Given the description of an element on the screen output the (x, y) to click on. 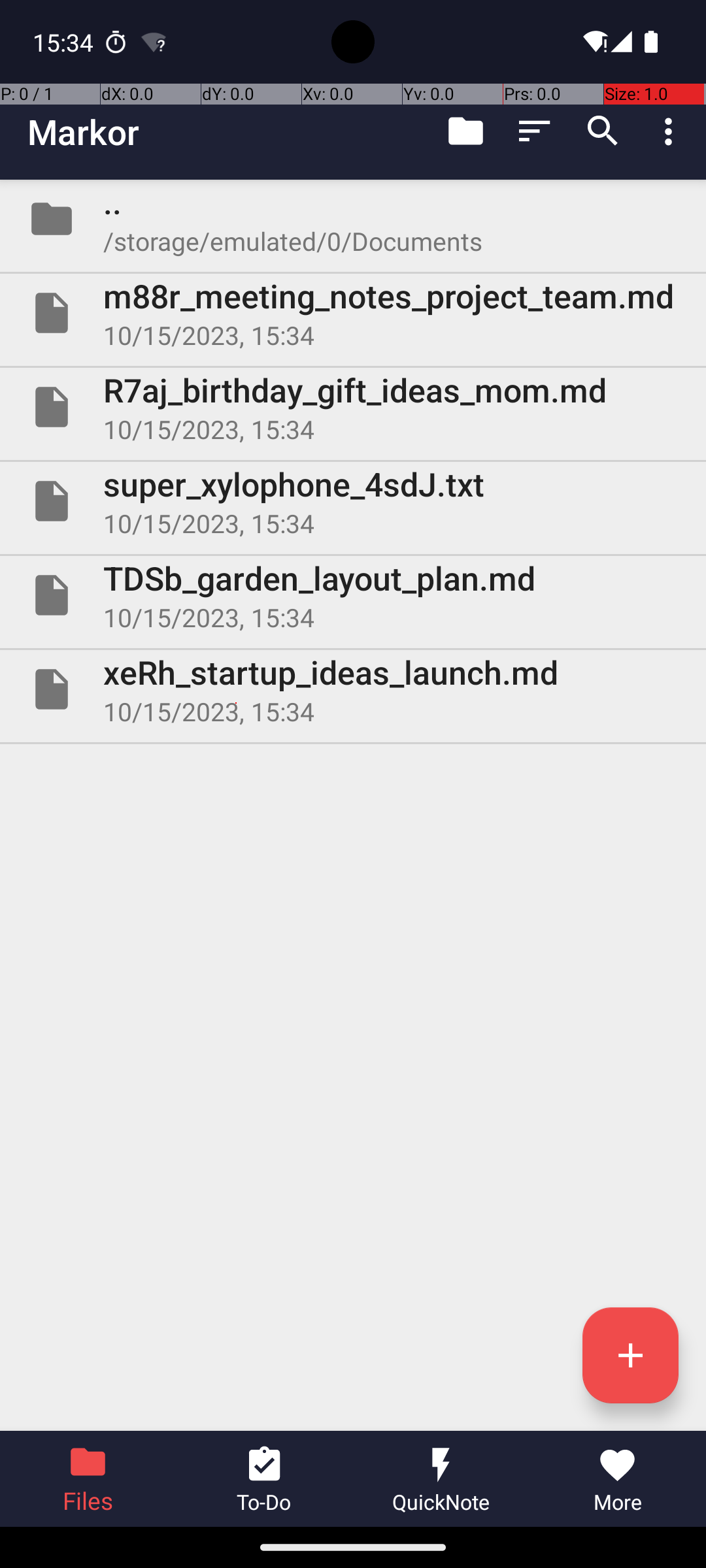
File m88r_meeting_notes_project_team.md  Element type: android.widget.LinearLayout (353, 312)
File R7aj_birthday_gift_ideas_mom.md  Element type: android.widget.LinearLayout (353, 406)
File super_xylophone_4sdJ.txt  Element type: android.widget.LinearLayout (353, 500)
File TDSb_garden_layout_plan.md  Element type: android.widget.LinearLayout (353, 594)
File xeRh_startup_ideas_launch.md  Element type: android.widget.LinearLayout (353, 689)
